Given the description of an element on the screen output the (x, y) to click on. 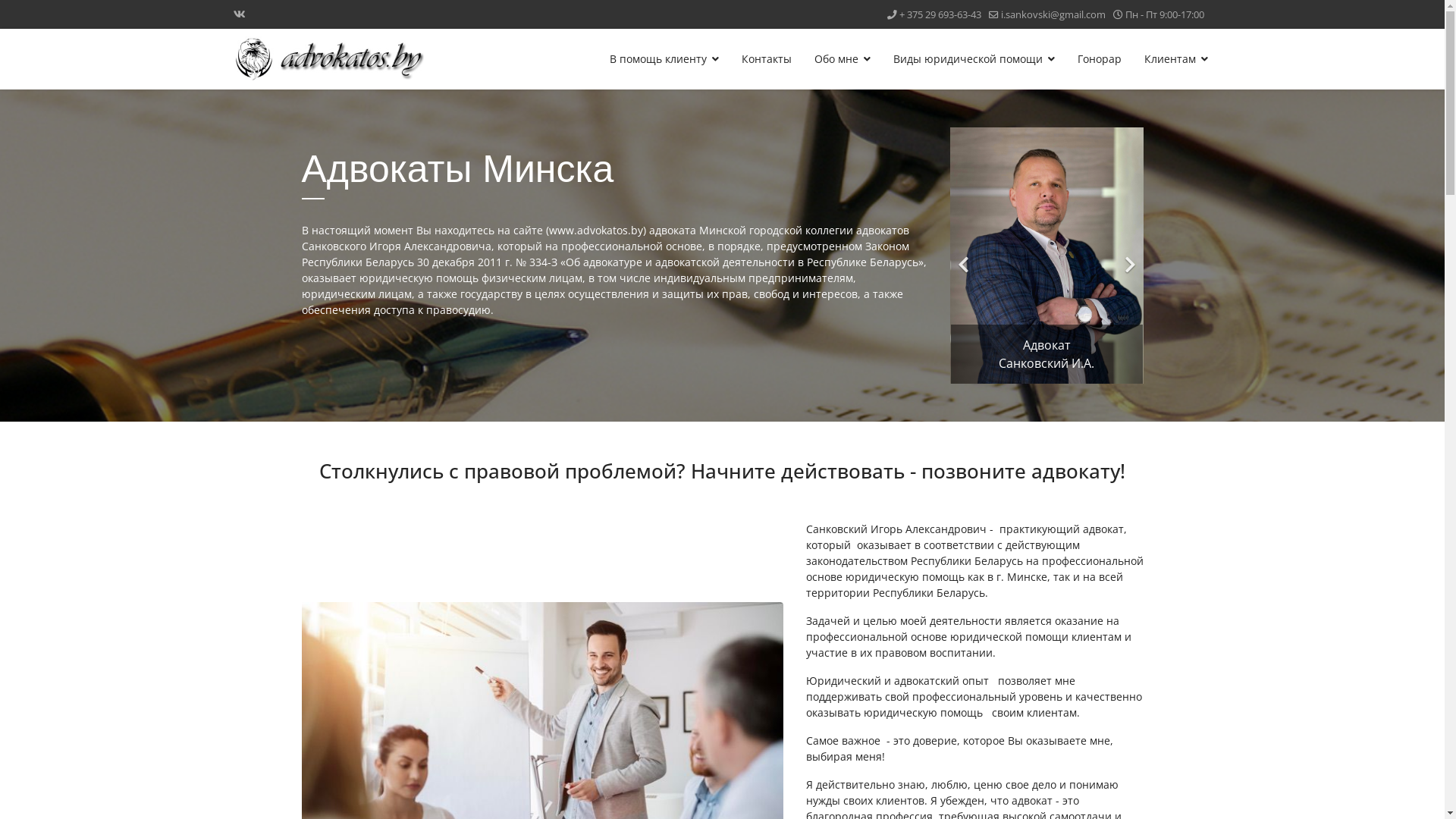
+ 375 29 693-63-43 Element type: text (940, 14)
i.sankovski@gmail.com Element type: text (1053, 14)
